Given the description of an element on the screen output the (x, y) to click on. 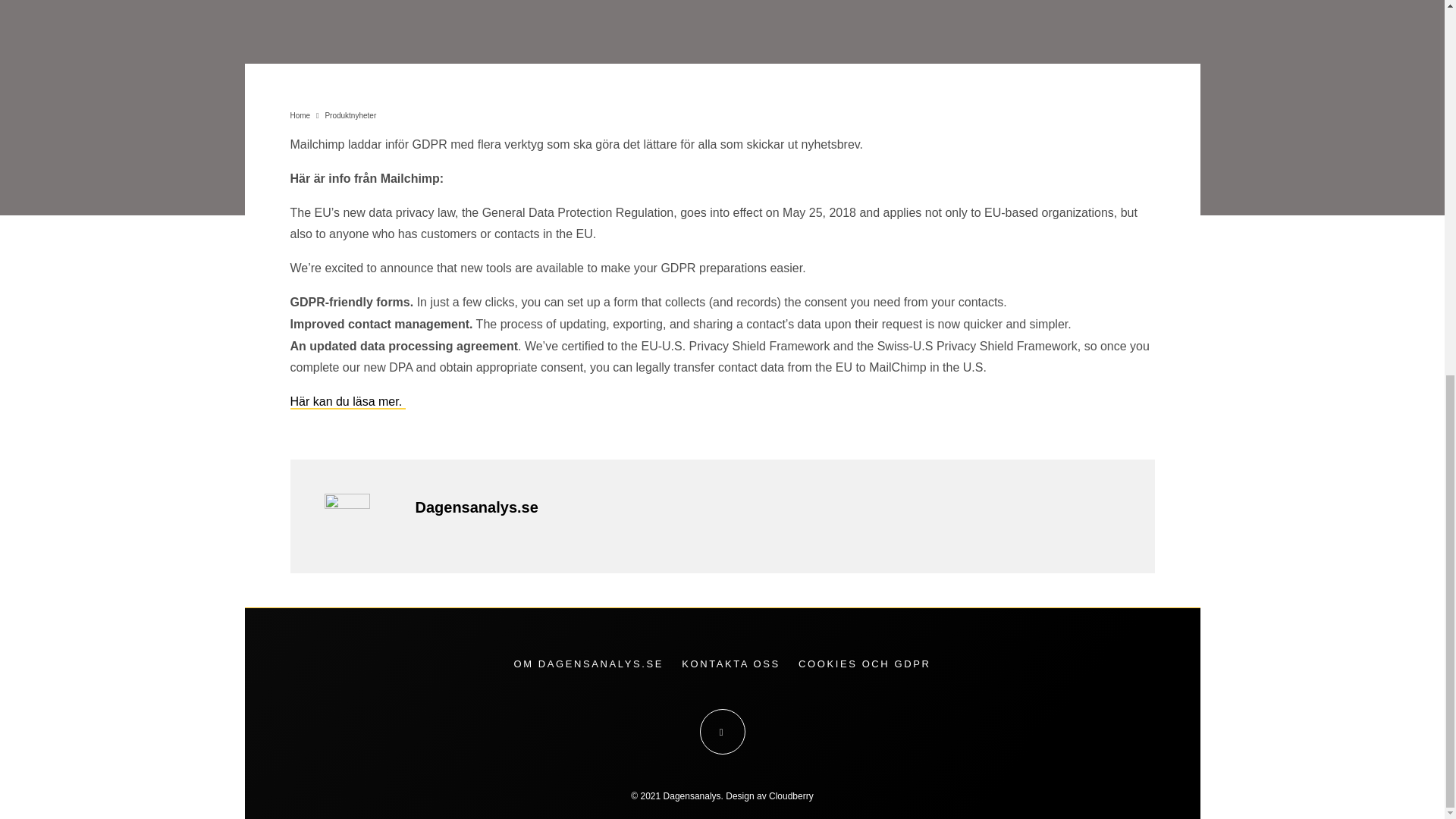
COOKIES OCH GDPR (864, 663)
OM DAGENSANALYS.SE (588, 663)
KONTAKTA OSS (730, 663)
Produktnyheter (349, 115)
Home (299, 115)
Dagensanalys.se (476, 506)
